Given the description of an element on the screen output the (x, y) to click on. 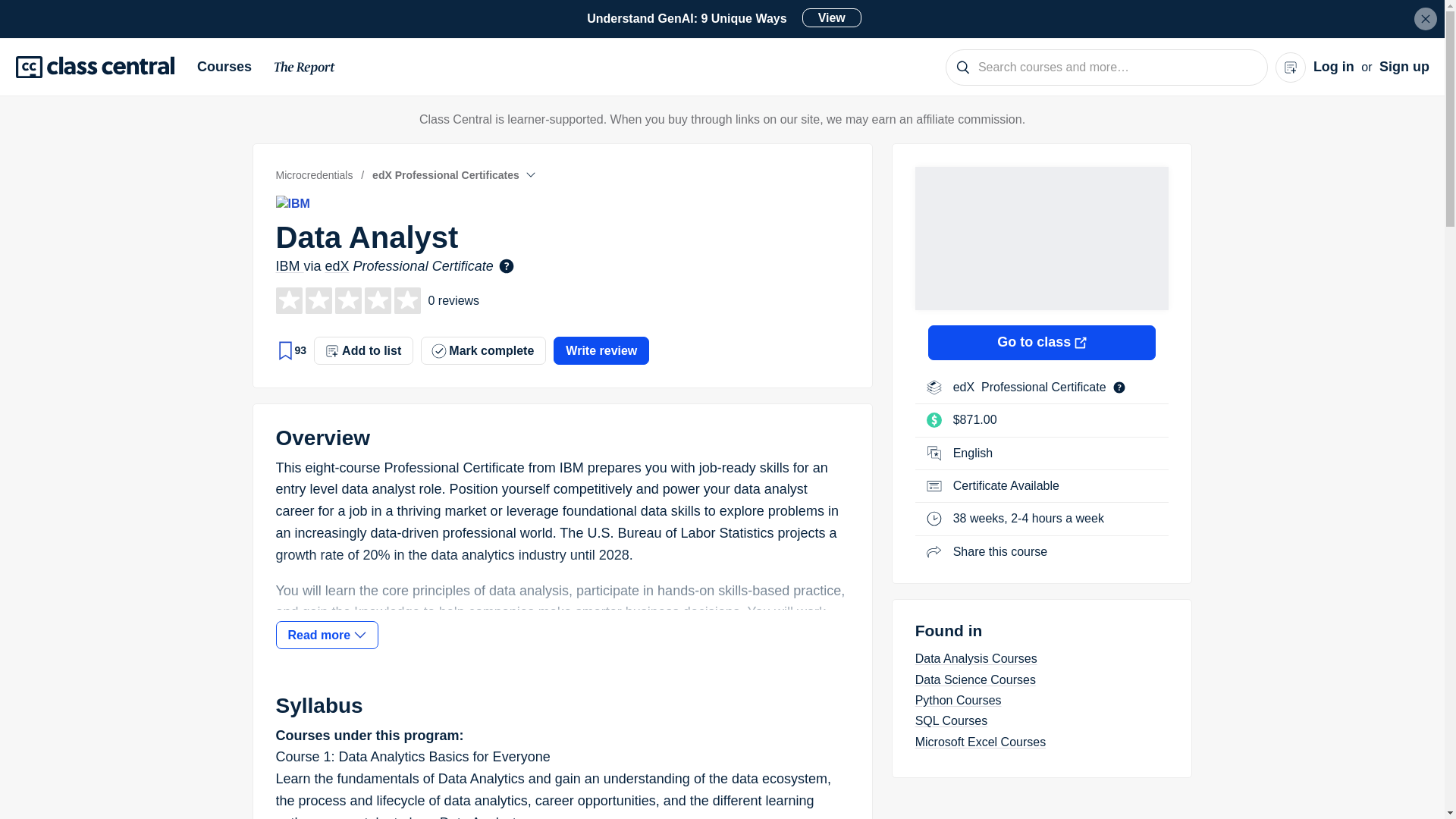
List of edX MOOCs (965, 386)
Courses (229, 66)
Close (1425, 18)
The Report (710, 18)
